Given the description of an element on the screen output the (x, y) to click on. 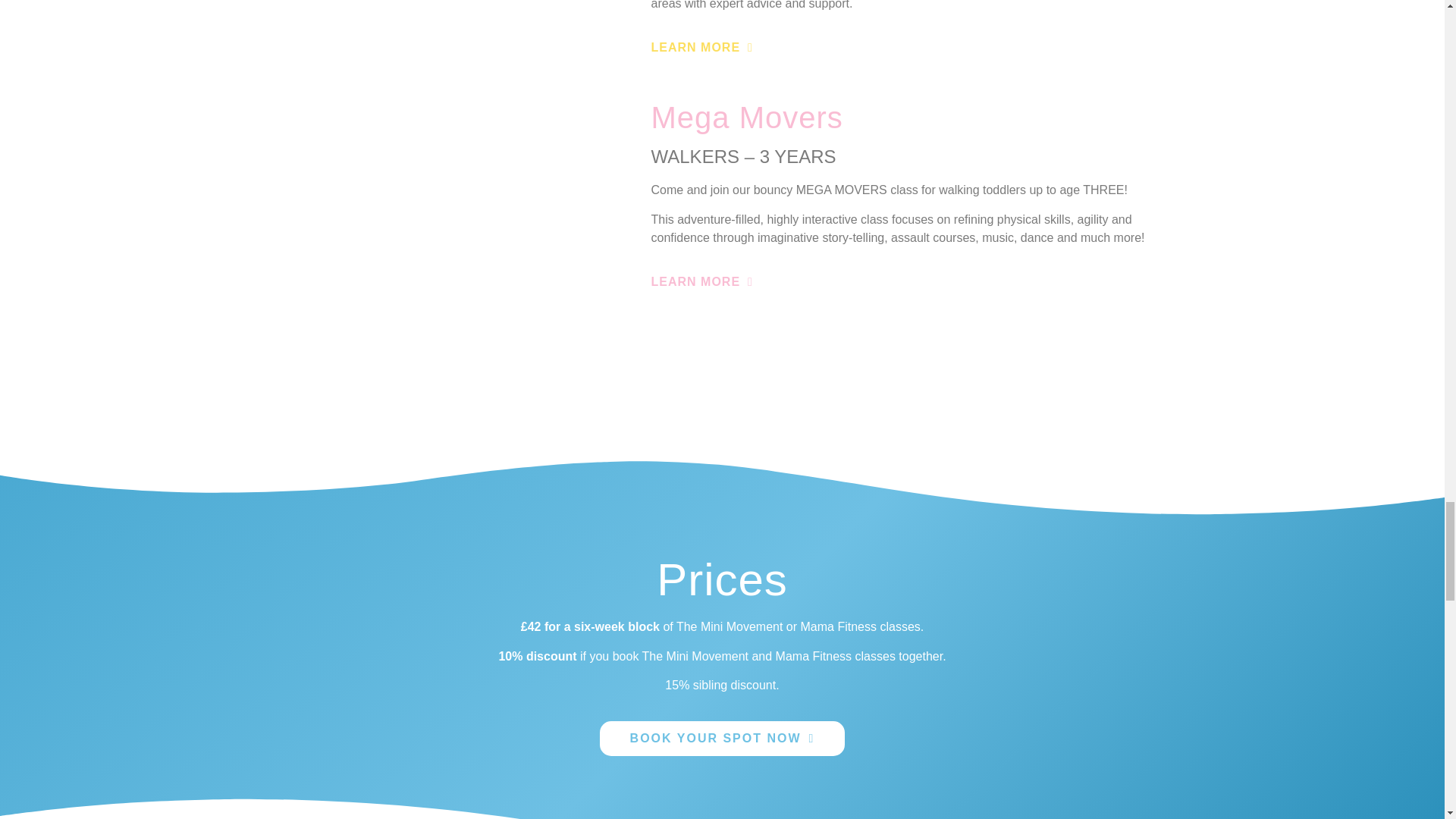
The Mini Movement 3 (462, 216)
LEARN MORE (701, 47)
LEARN MORE (701, 282)
BOOK YOUR SPOT NOW (722, 738)
The Mini Movement 2 (462, 15)
